Given the description of an element on the screen output the (x, y) to click on. 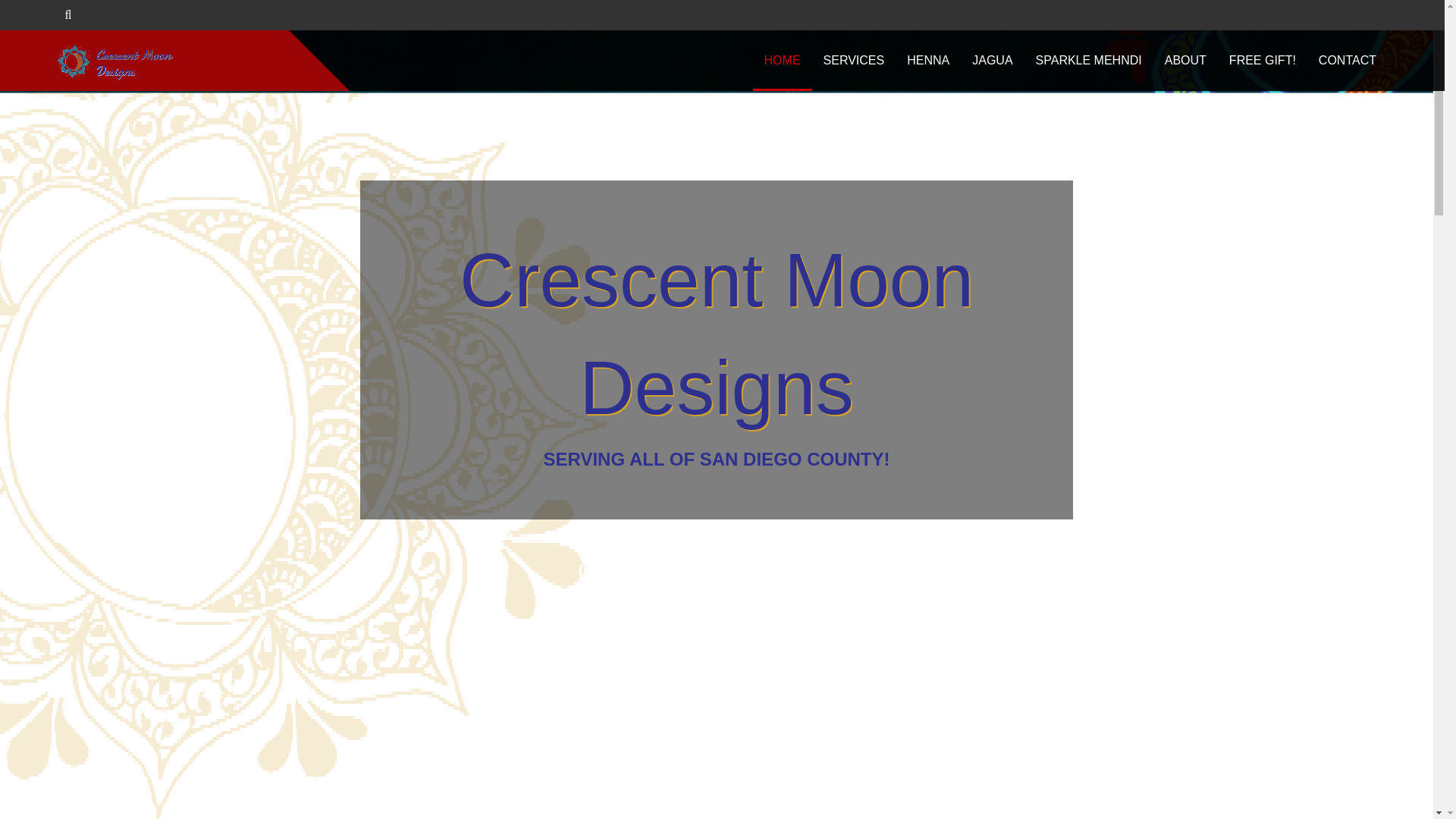
CONTACT (1347, 60)
search (45, 15)
ABOUT (1185, 60)
SERVICES (854, 60)
JAGUA (991, 60)
FREE GIFT! (1262, 60)
HOME (782, 60)
SPARKLE MEHNDI (1089, 60)
HENNA (927, 60)
